Given the description of an element on the screen output the (x, y) to click on. 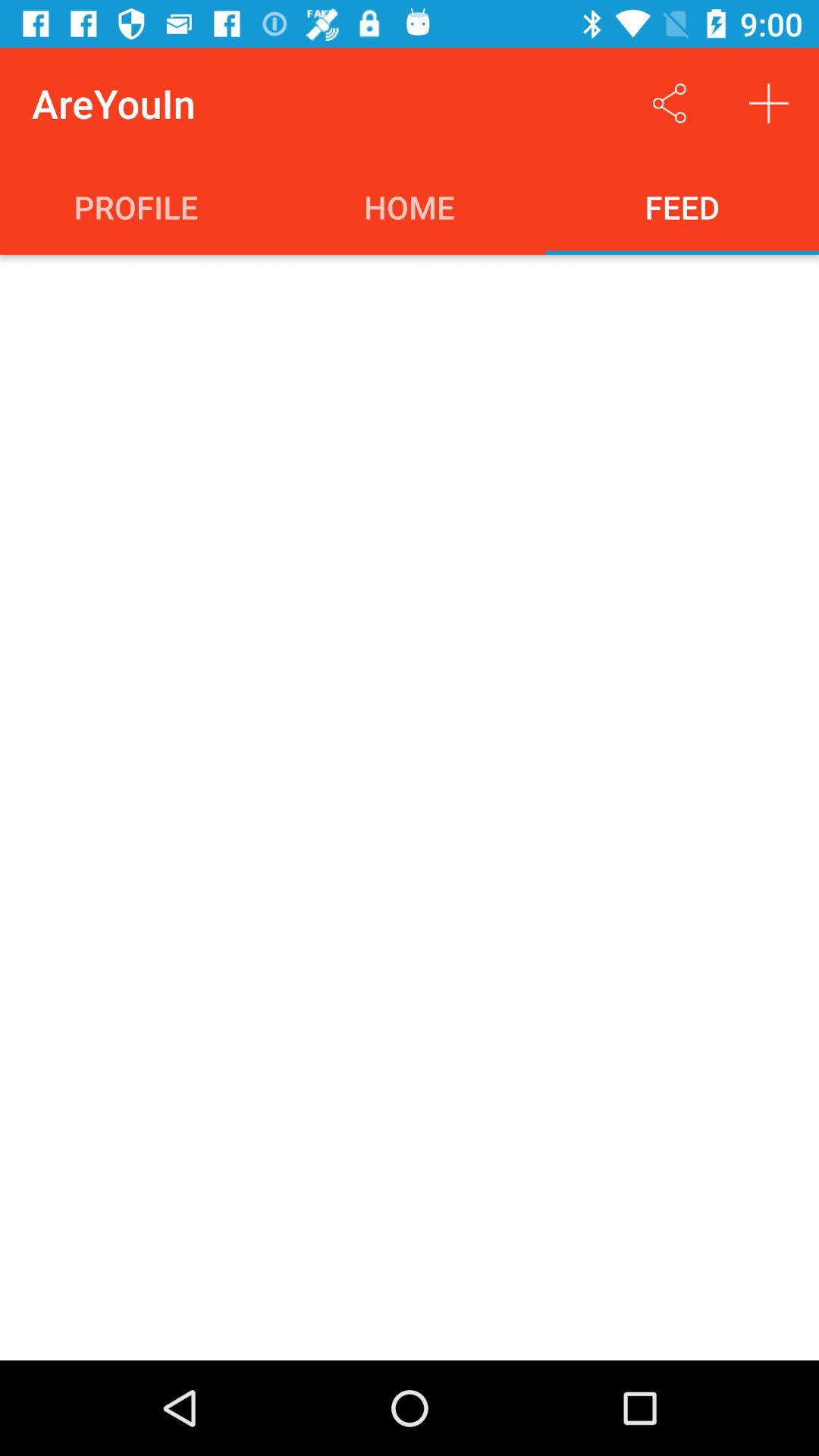
add something (769, 103)
